Given the description of an element on the screen output the (x, y) to click on. 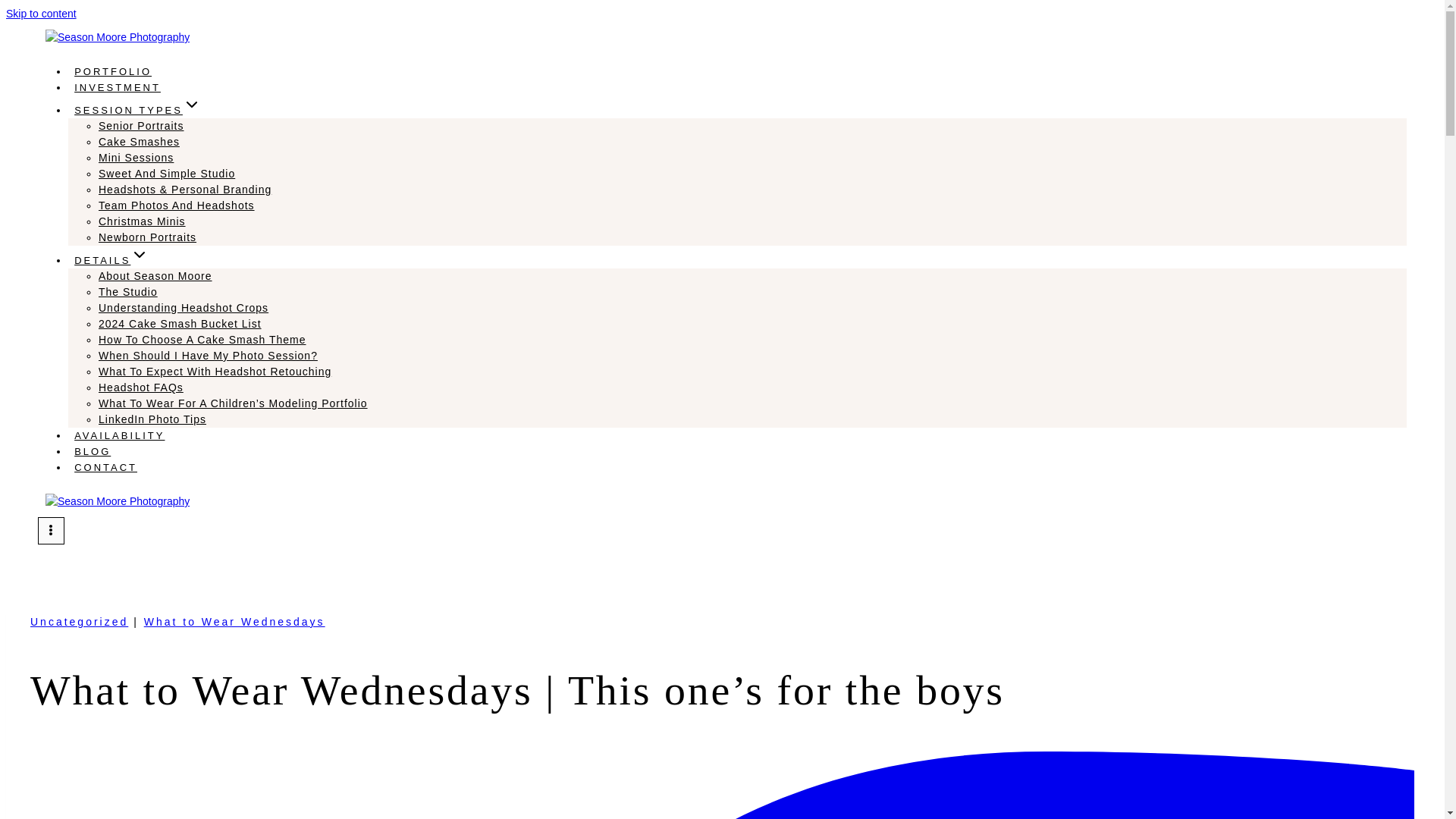
When Should I Have My Photo Session? (208, 355)
Christmas Minis (142, 221)
The Studio (128, 291)
Skip to content (41, 13)
Toggle Menu (50, 530)
CONTACT (105, 467)
Cake Smashes (139, 141)
PORTFOLIO (112, 71)
What to Wear Wednesdays (234, 621)
Skip to content (41, 13)
